Given the description of an element on the screen output the (x, y) to click on. 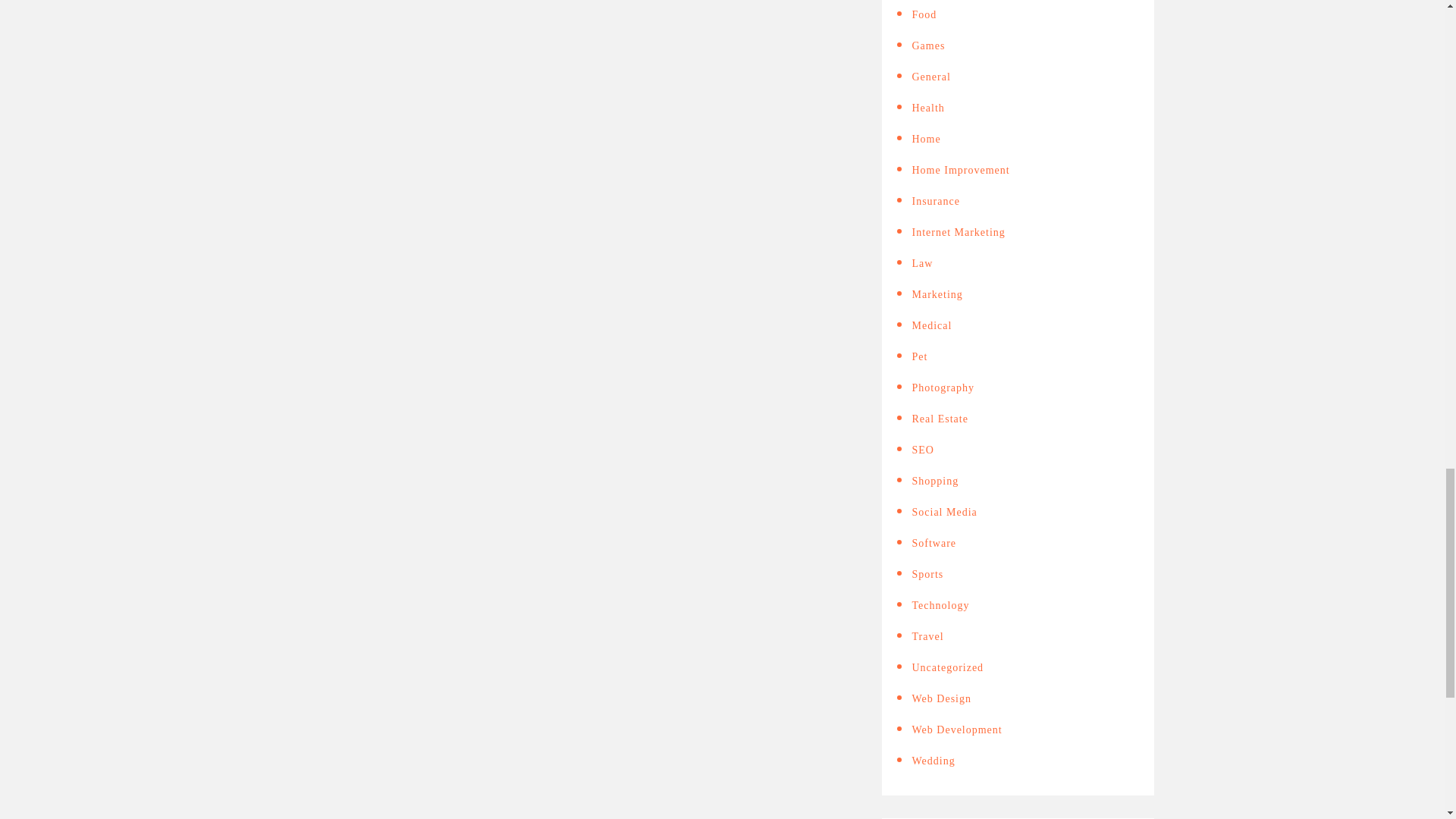
Food (923, 14)
General (930, 76)
Games (927, 45)
